Given the description of an element on the screen output the (x, y) to click on. 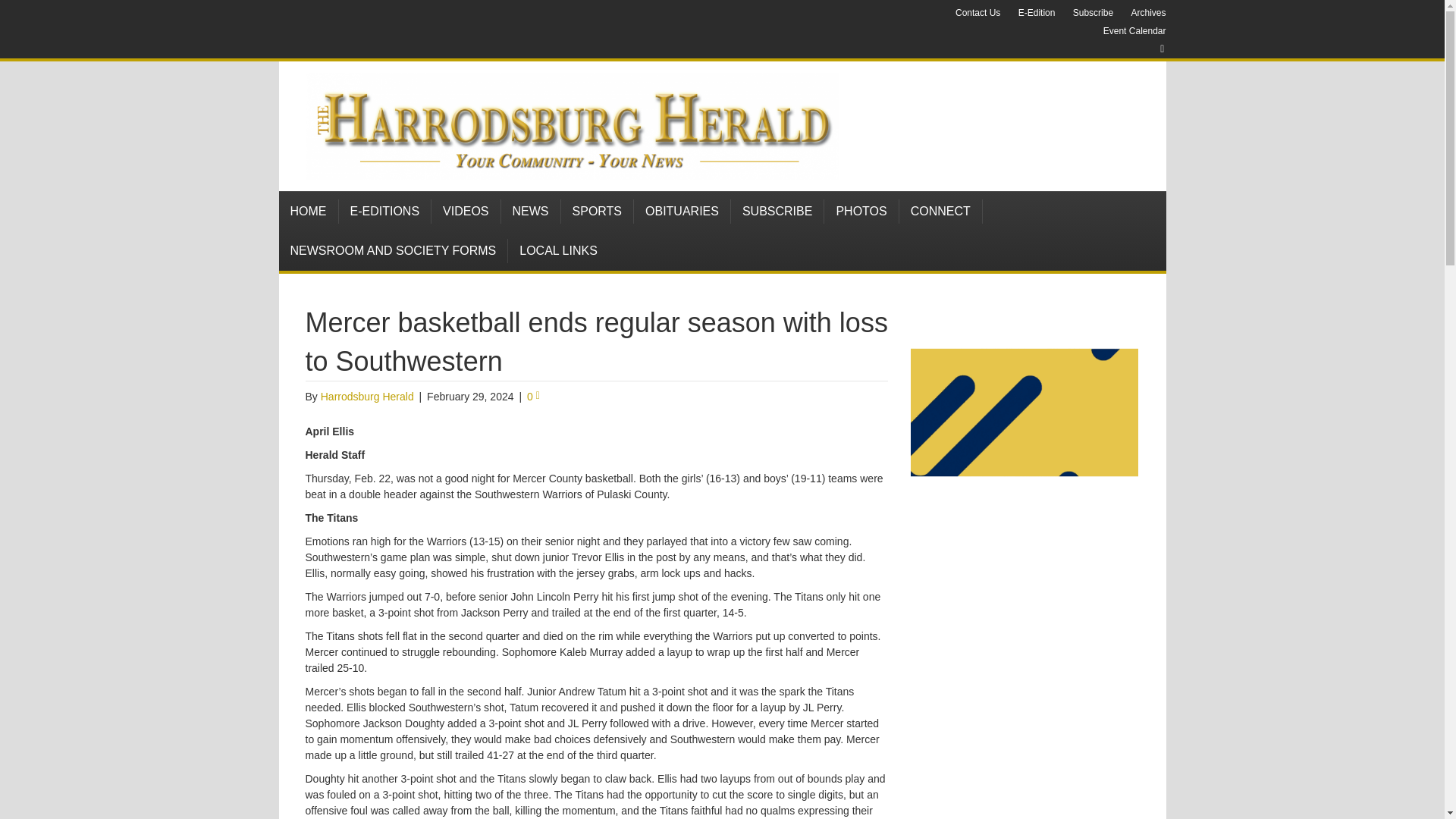
VIDEOS (465, 211)
E-Edition (1036, 13)
Email (1154, 48)
CONNECT (940, 211)
OBITUARIES (681, 211)
E-EDITIONS (383, 211)
SUBSCRIBE (777, 211)
Archives (1147, 13)
SPORTS (597, 211)
HOME (309, 211)
Contact Us (977, 13)
PHOTOS (861, 211)
Subscribe (1093, 13)
NEWS (530, 211)
Event Calendar (1134, 31)
